Given the description of an element on the screen output the (x, y) to click on. 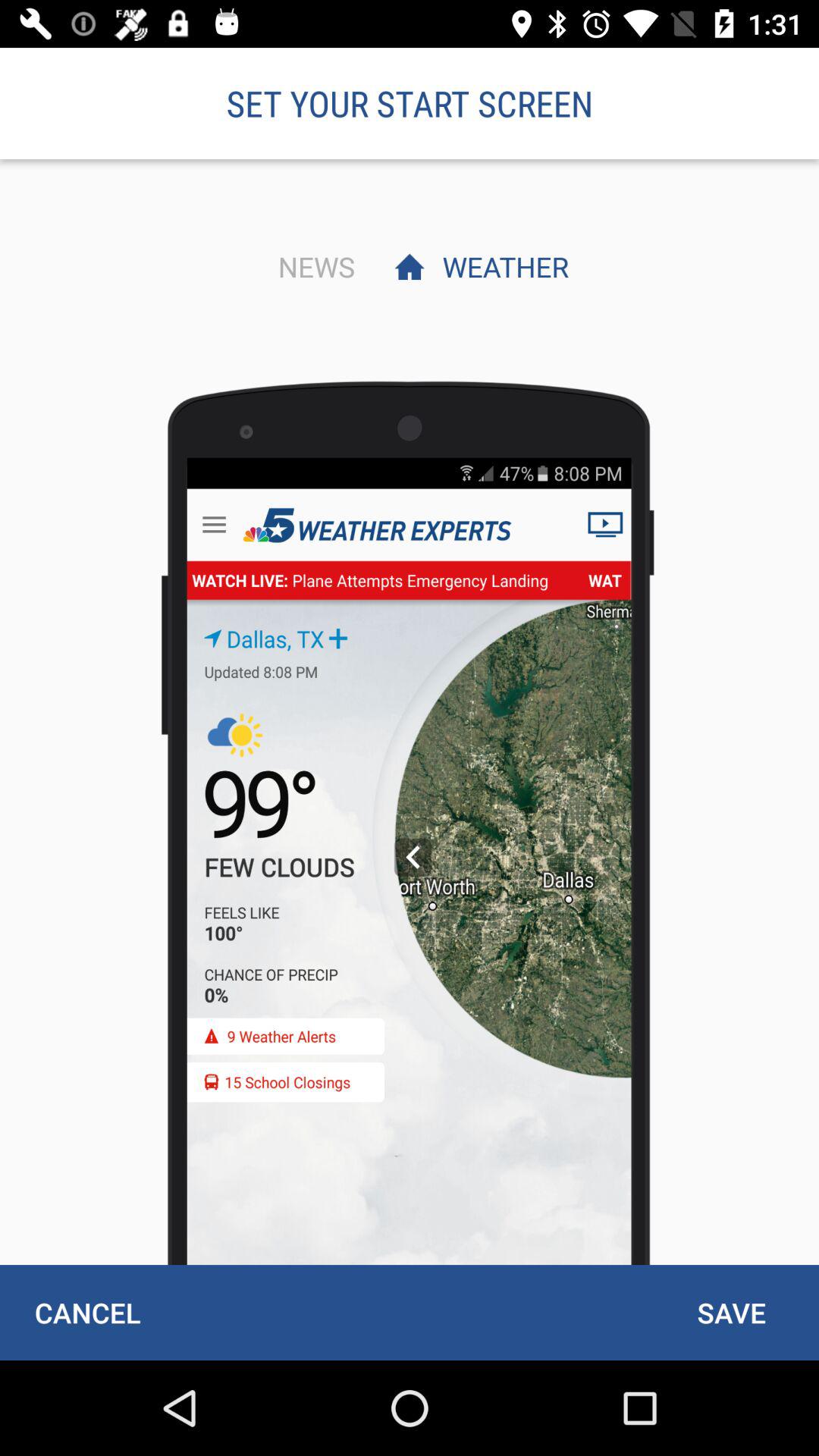
jump until the weather (501, 266)
